Given the description of an element on the screen output the (x, y) to click on. 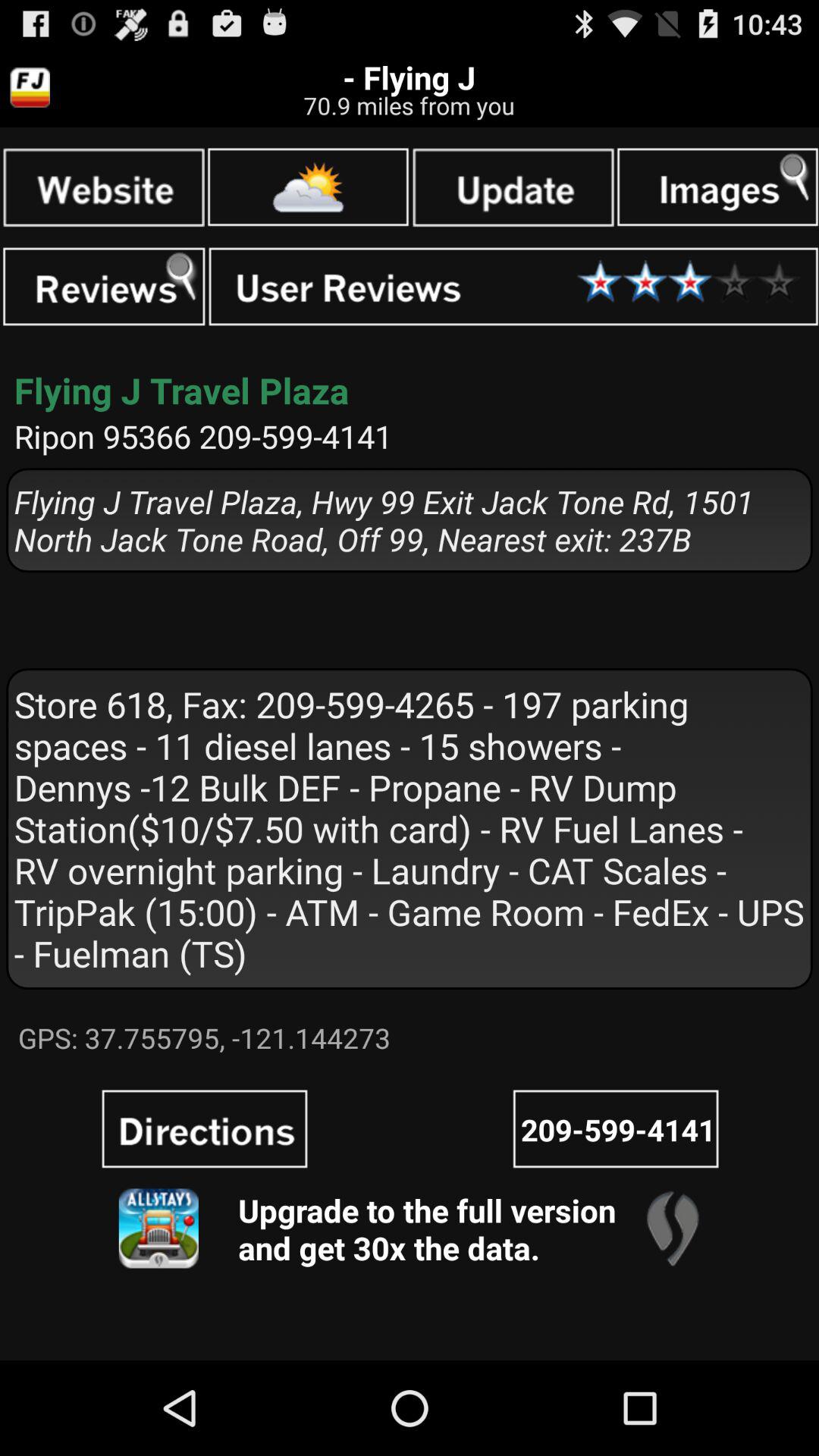
it was ok (513, 286)
